Given the description of an element on the screen output the (x, y) to click on. 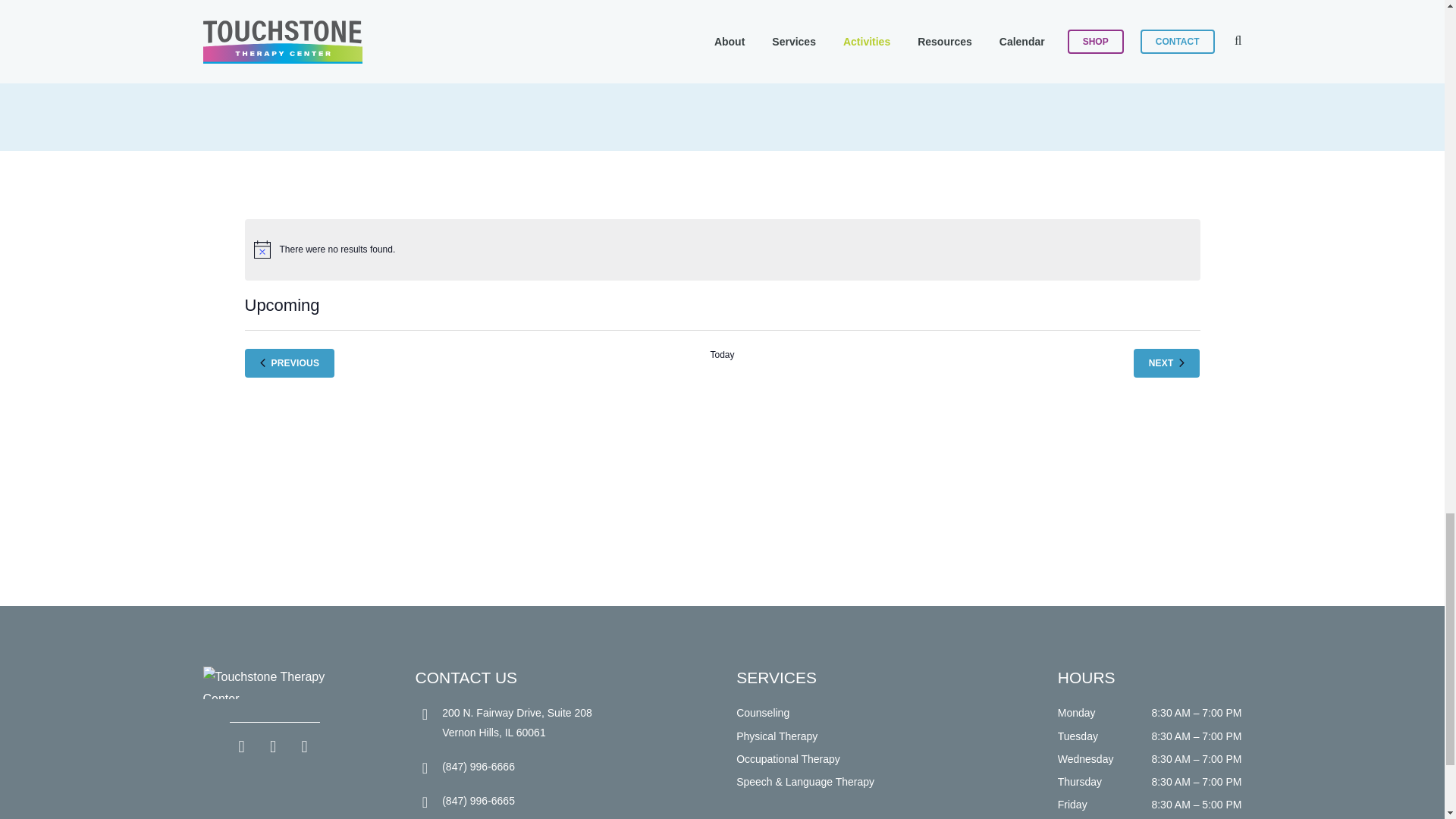
Next Events (1166, 363)
Previous Events (289, 363)
Click to toggle datepicker (281, 304)
Click to select today's date (721, 363)
